Given the description of an element on the screen output the (x, y) to click on. 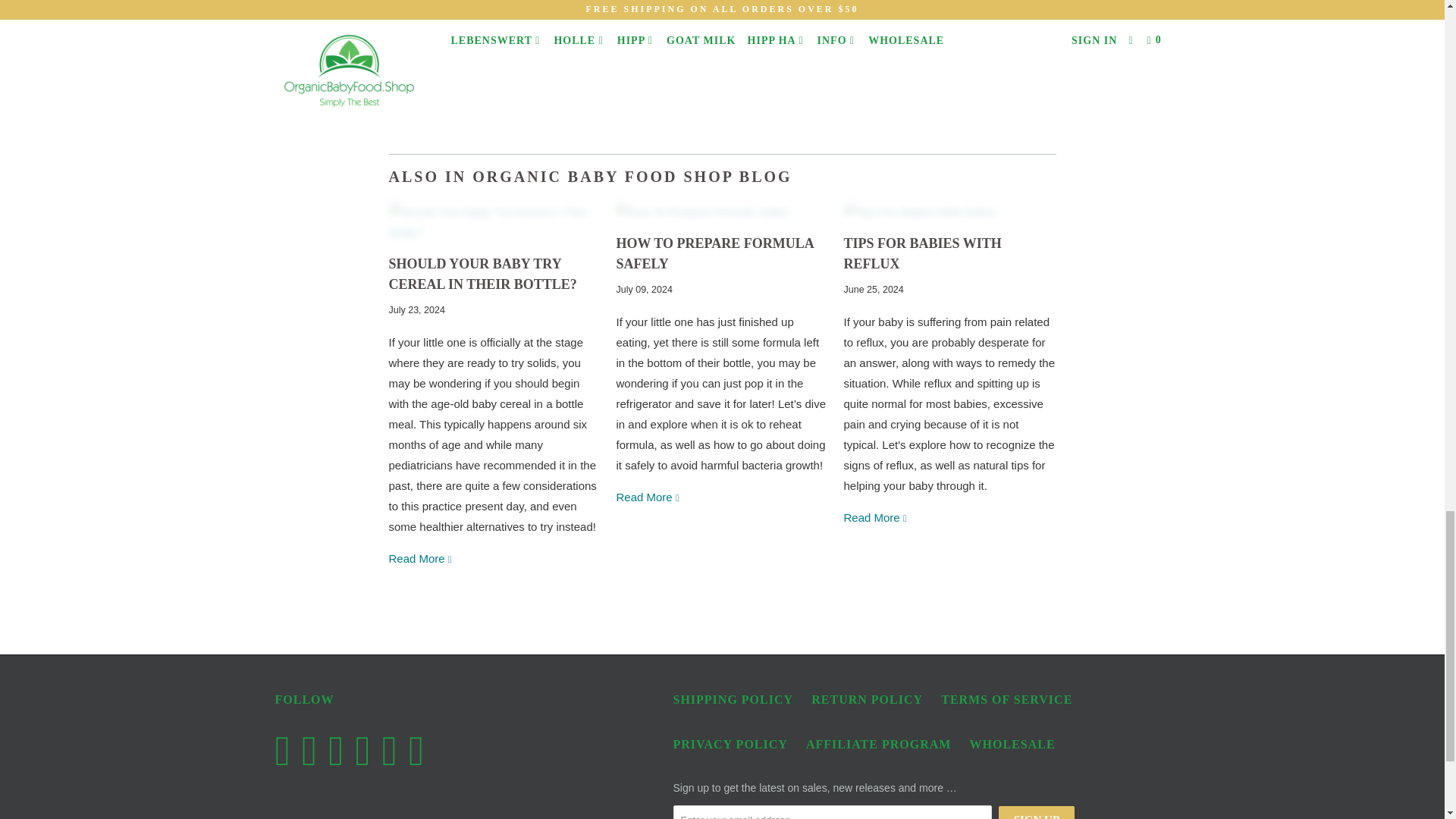
Tips For Babies With Reflux (875, 517)
Should Your Baby Try Cereal in Their Bottle? (482, 273)
How To Prepare Formula Safely (647, 496)
Should Your Baby Try Cereal in Their Bottle? (420, 558)
How To Prepare Formula Safely (713, 253)
Tips For Babies With Reflux (949, 211)
Sign Up (1036, 812)
Should Your Baby Try Cereal in Their Bottle? (493, 221)
Post comment (453, 107)
How To Prepare Formula Safely (721, 211)
Tips For Babies With Reflux (922, 253)
